Given the description of an element on the screen output the (x, y) to click on. 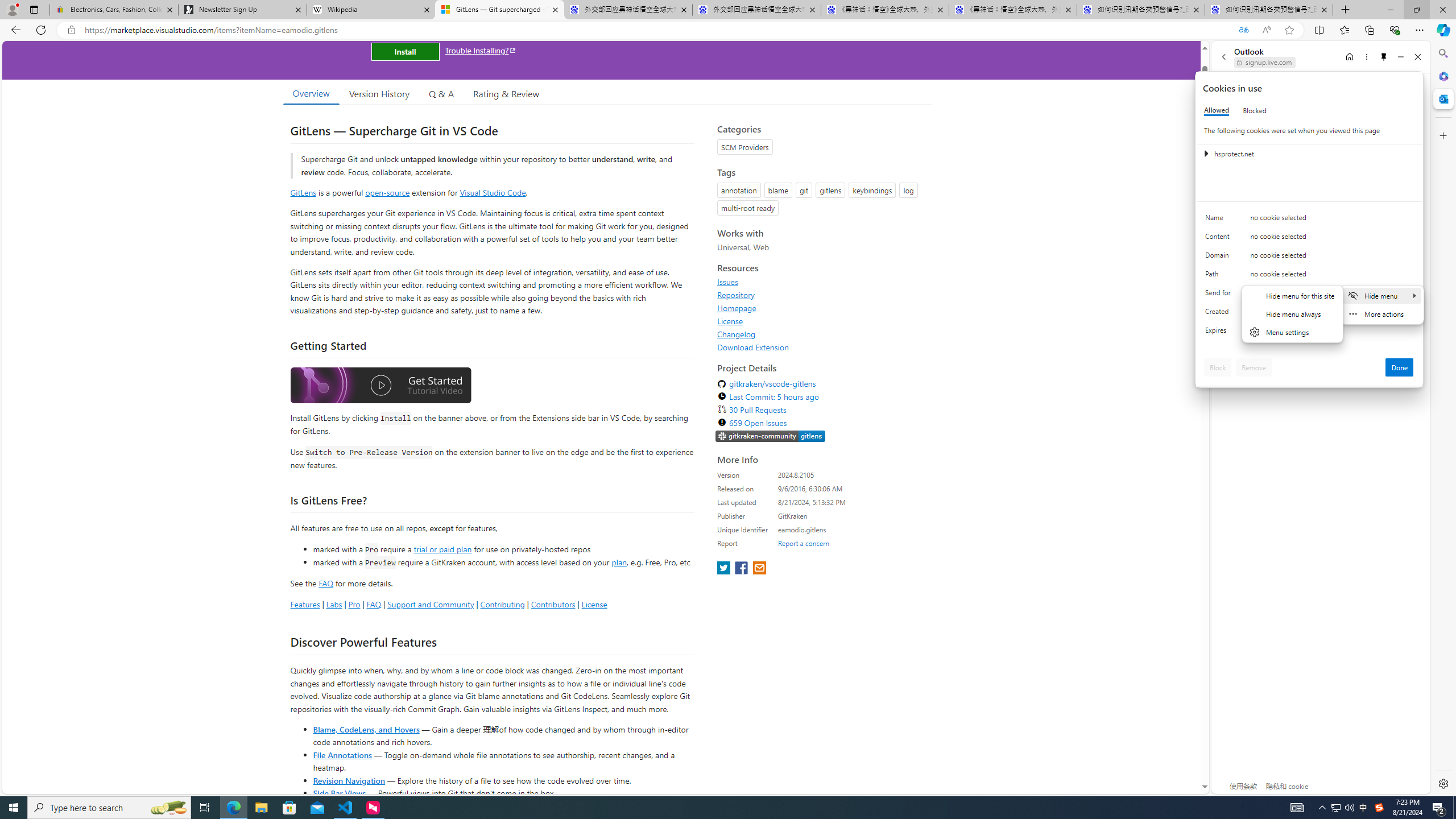
Send for (1219, 295)
Hide menu (1381, 295)
no cookie selected (1331, 332)
Menu settings (1291, 331)
Expires (1219, 332)
Path (1219, 276)
Name (1219, 220)
Domain (1219, 257)
Hide menu (1292, 321)
Mini menu on text selection (1381, 311)
Done (1399, 367)
Hide menu for this site (1291, 295)
Block (1217, 367)
Hide menu (1291, 313)
More actions (1381, 313)
